Given the description of an element on the screen output the (x, y) to click on. 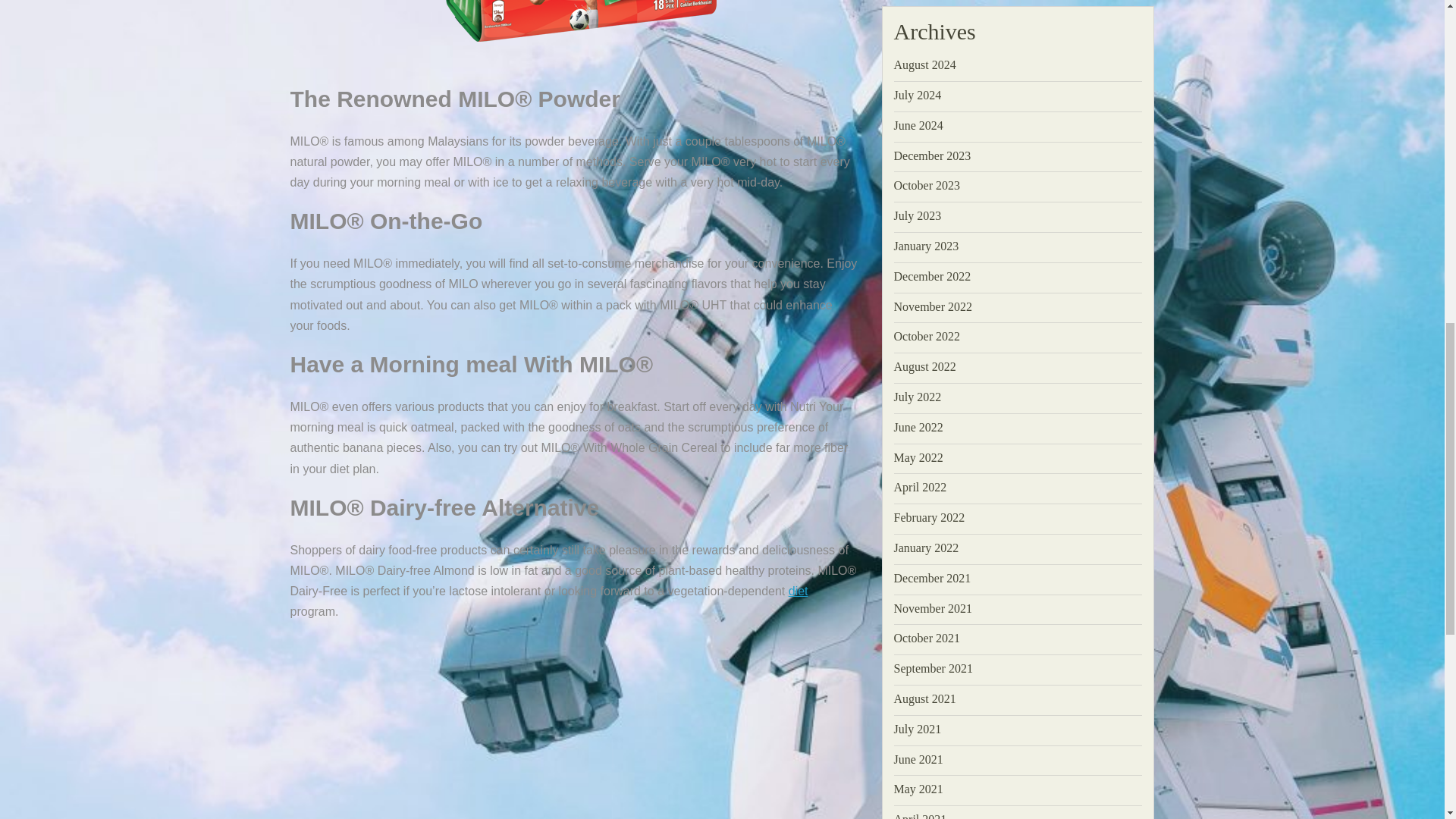
January 2022 (925, 547)
November 2022 (932, 306)
October 2022 (926, 336)
February 2022 (928, 517)
May 2022 (917, 457)
August 2022 (924, 366)
July 2023 (916, 215)
December 2023 (932, 155)
June 2022 (917, 427)
September 2021 (932, 667)
